Given the description of an element on the screen output the (x, y) to click on. 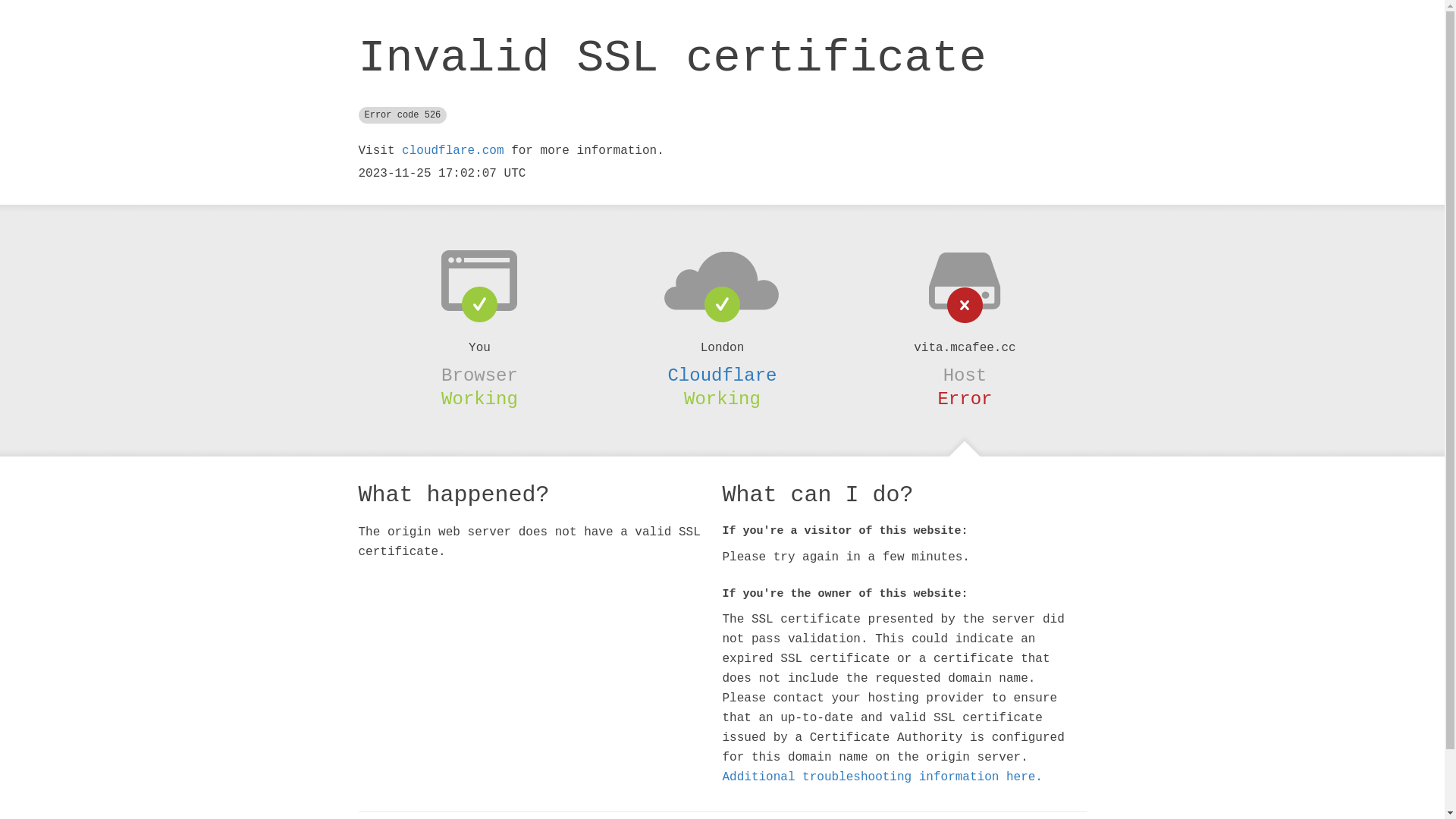
cloudflare.com Element type: text (452, 150)
Cloudflare Element type: text (721, 375)
Additional troubleshooting information here. Element type: text (881, 777)
